Given the description of an element on the screen output the (x, y) to click on. 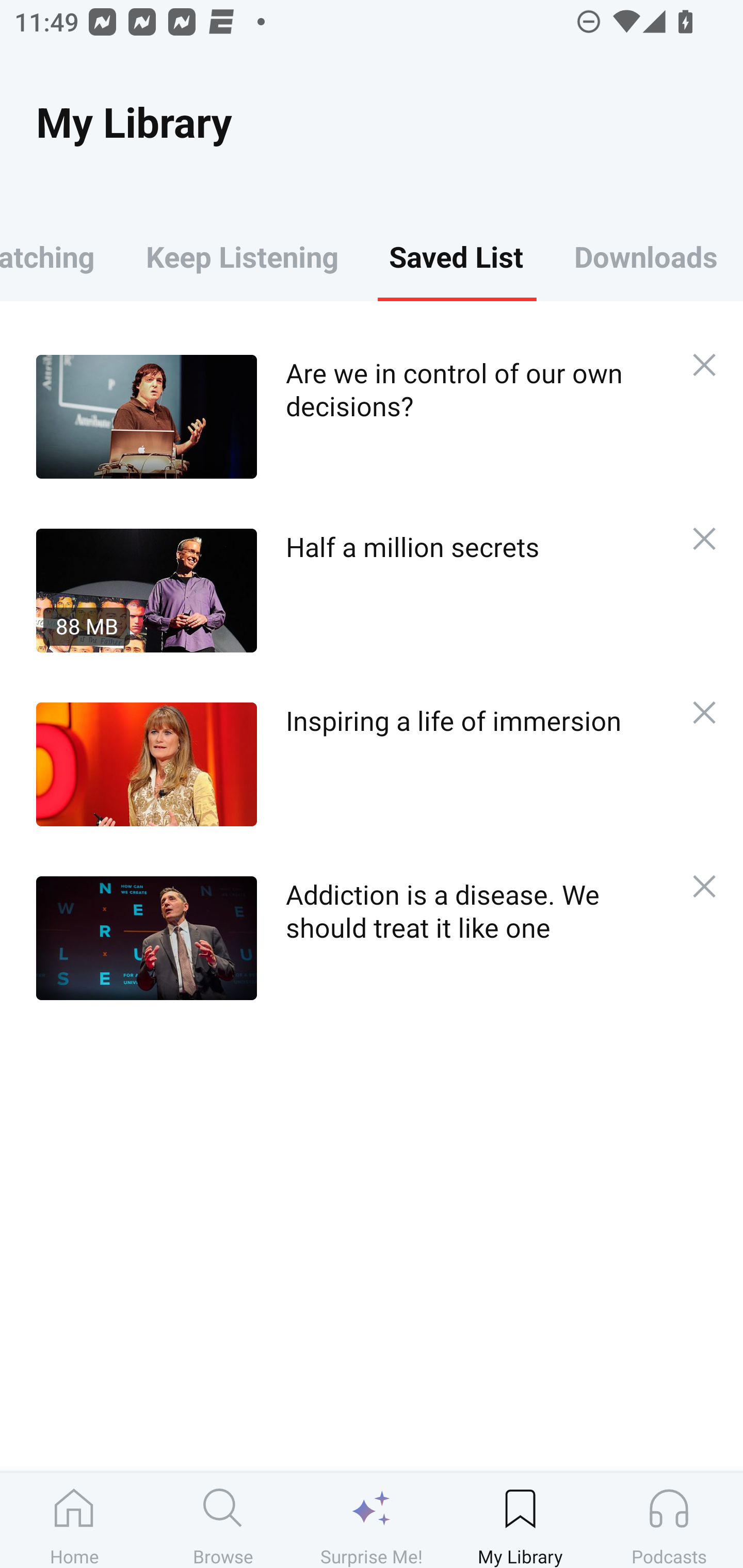
Keep Watching (60, 256)
Keep Listening (242, 256)
Saved List (456, 256)
Downloads (646, 256)
Are we in control of our own decisions? (353, 416)
88 MB Half a million secrets (353, 590)
Inspiring a life of immersion (353, 764)
Home (74, 1520)
Browse (222, 1520)
Surprise Me! (371, 1520)
My Library (519, 1520)
Podcasts (668, 1520)
